Given the description of an element on the screen output the (x, y) to click on. 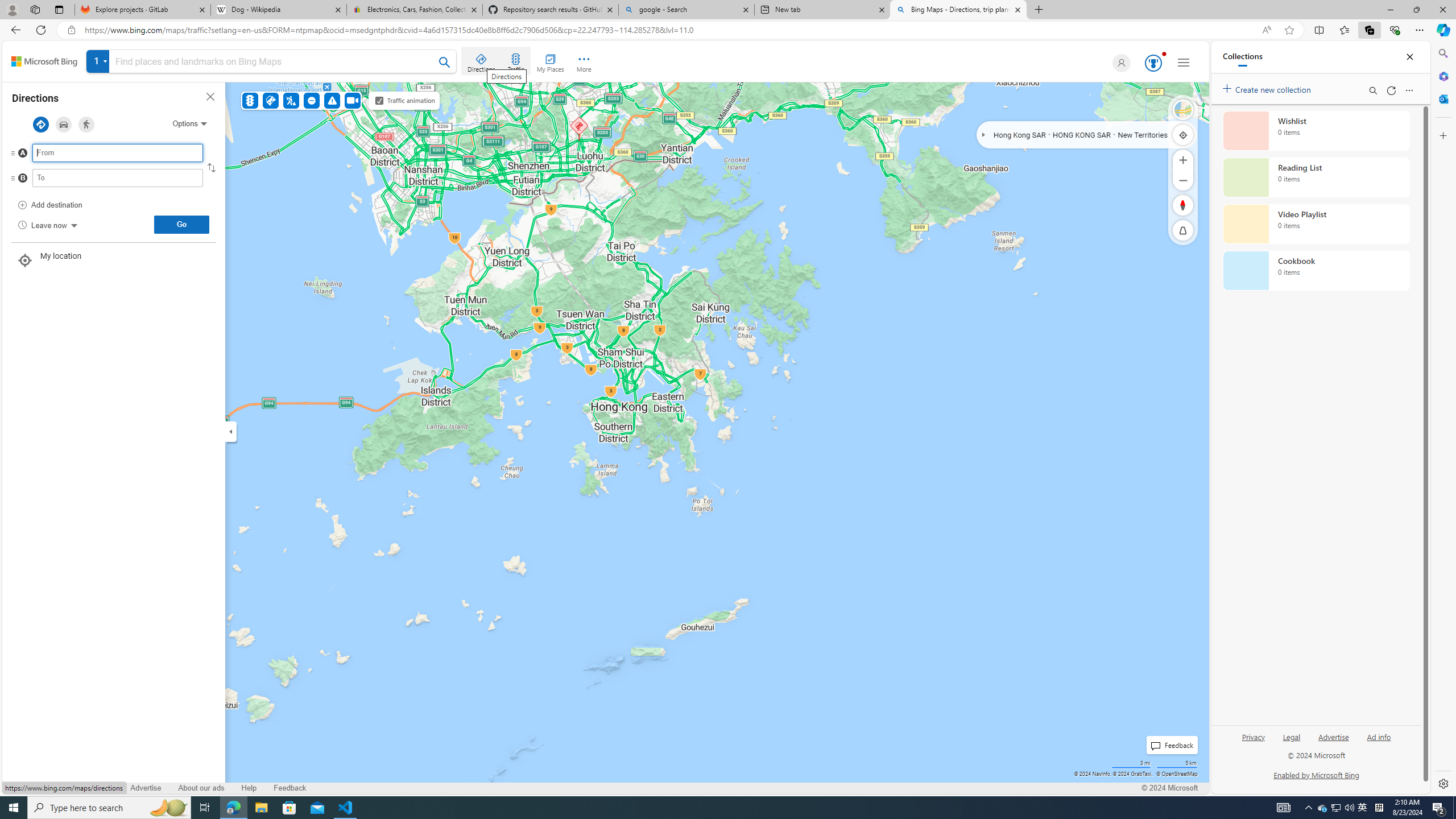
Rotate Right (1171, 205)
Reset to Default Rotation (1182, 204)
Expand/Collapse Geochain (982, 134)
From (117, 153)
Create new collection (1268, 87)
Locate me (1182, 134)
Reading List collection, 0 items (1316, 177)
google - Search (685, 9)
To (117, 177)
